Given the description of an element on the screen output the (x, y) to click on. 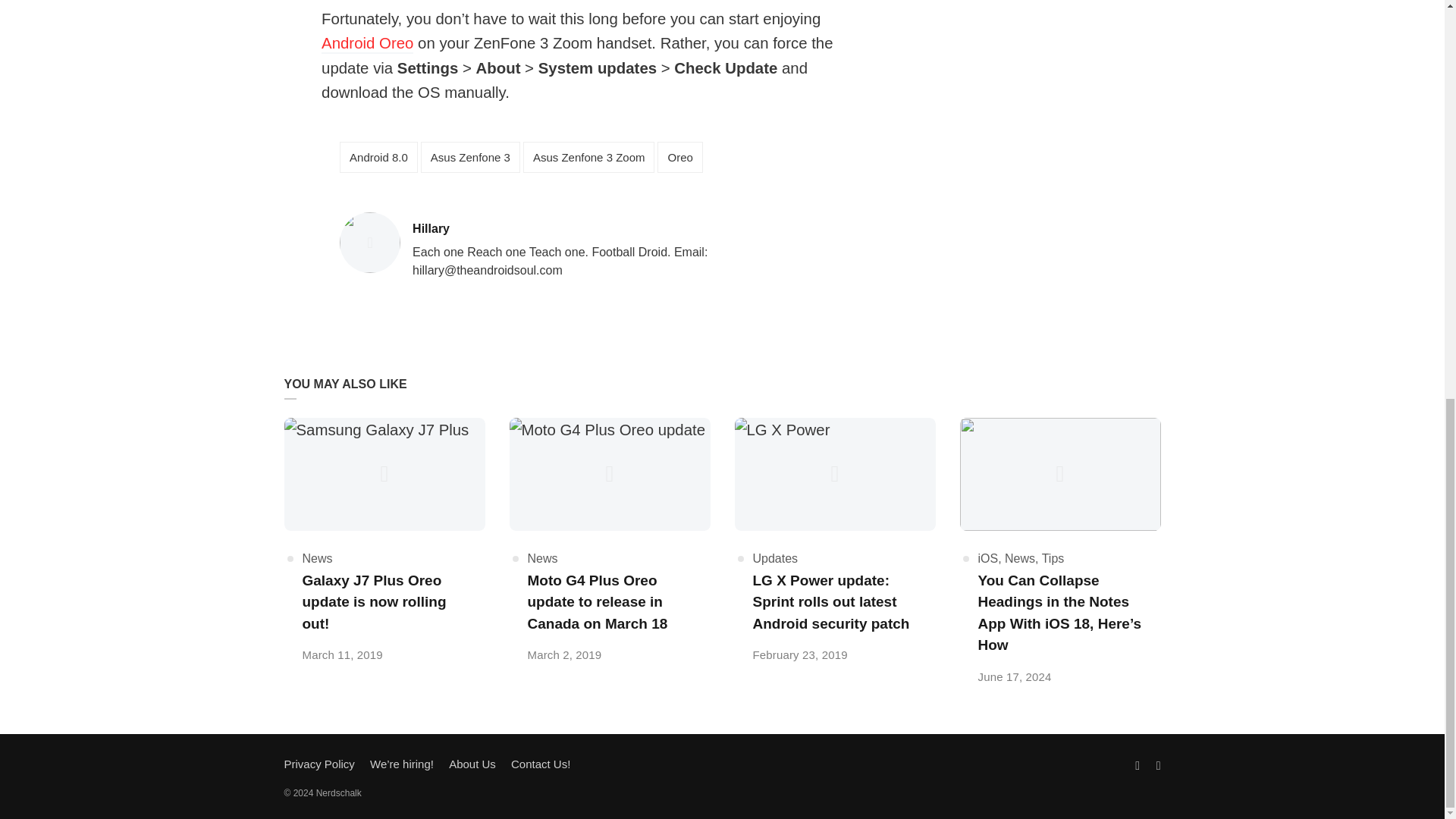
Tips (1053, 558)
Asus Zenfone 3 (469, 156)
Android 8.0 (378, 156)
Android Oreo (367, 44)
iOS (988, 558)
Oreo (679, 156)
News (316, 558)
News (564, 229)
Privacy Policy (1019, 558)
Updates (318, 763)
About Us (774, 558)
Asus Zenfone 3 Zoom (472, 763)
News (588, 156)
